Given the description of an element on the screen output the (x, y) to click on. 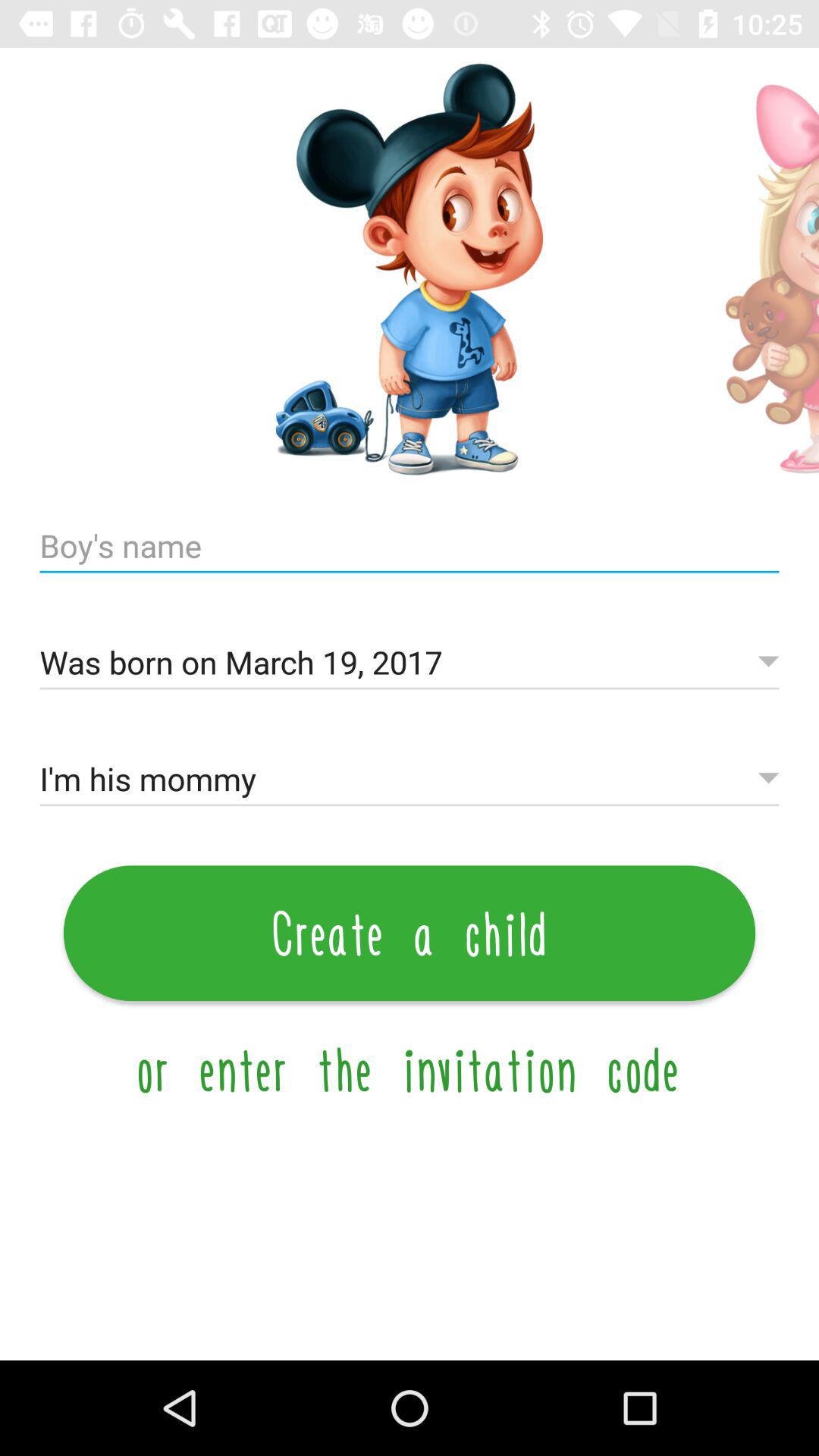
enter name (409, 545)
